Given the description of an element on the screen output the (x, y) to click on. 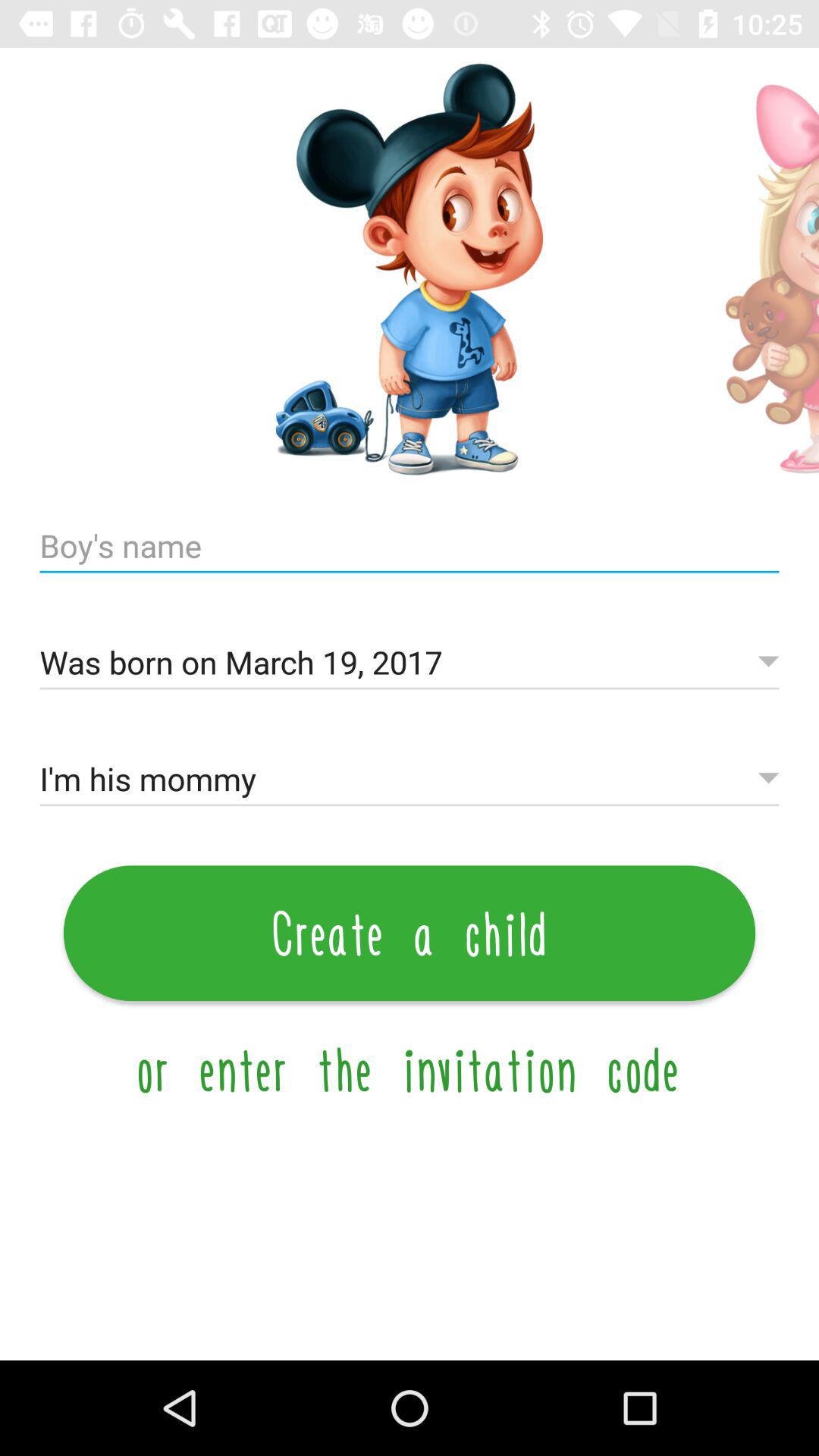
enter name (409, 545)
